Given the description of an element on the screen output the (x, y) to click on. 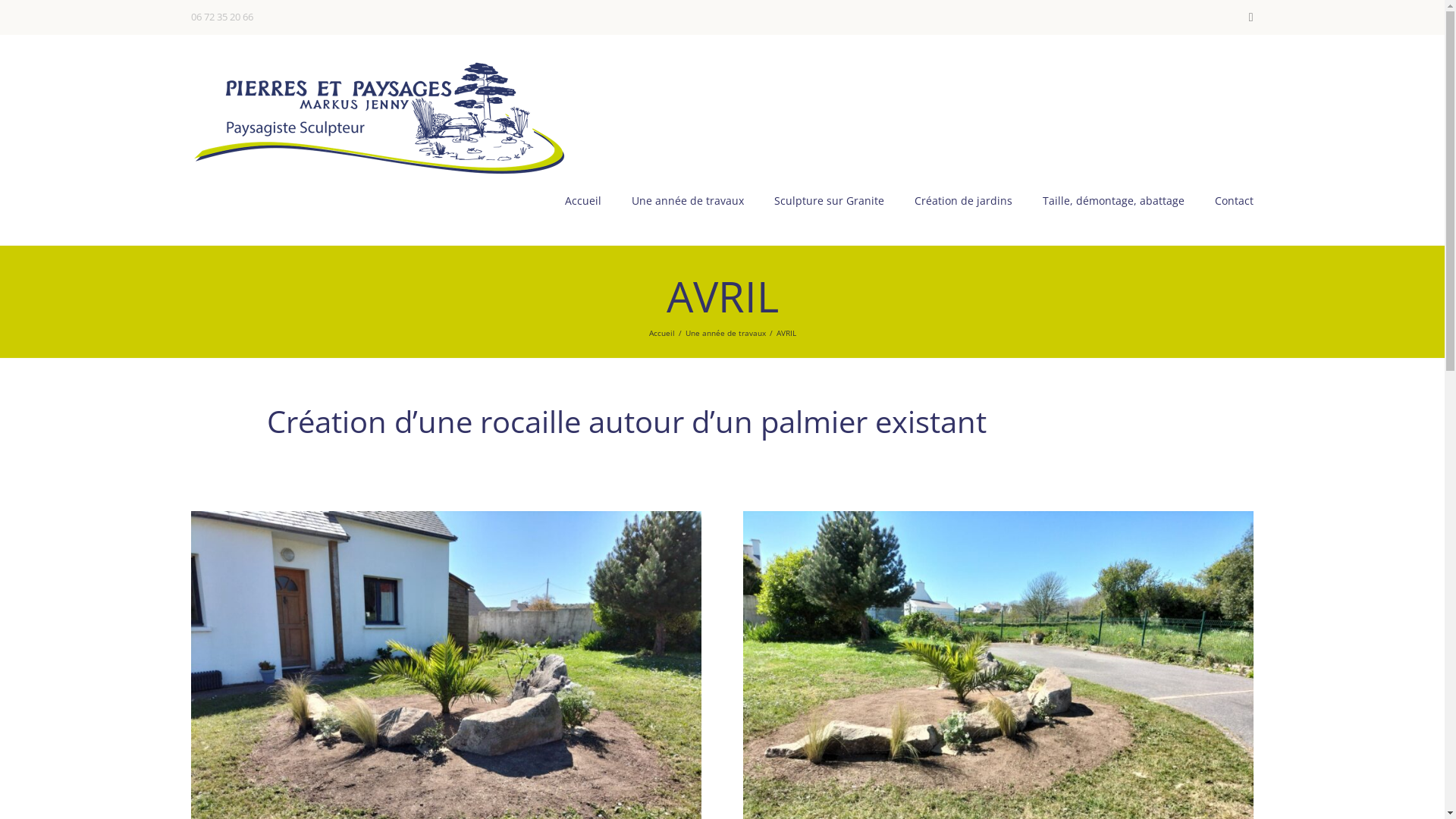
Contact Element type: text (1233, 199)
Facebook Element type: hover (1250, 17)
Sculpture sur Granite Element type: text (829, 199)
Accueil Element type: text (582, 199)
Accueil Element type: text (661, 332)
